Given the description of an element on the screen output the (x, y) to click on. 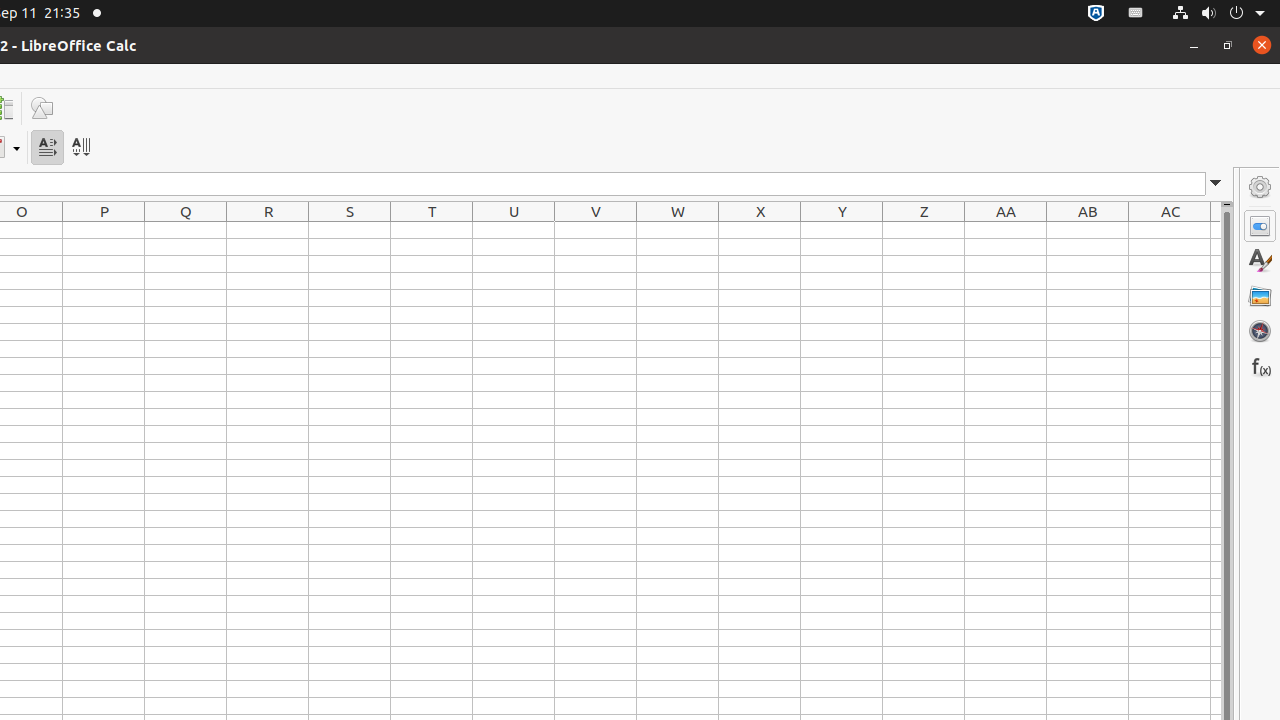
W1 Element type: table-cell (678, 230)
AC1 Element type: table-cell (1170, 230)
Z1 Element type: table-cell (924, 230)
AA1 Element type: table-cell (1006, 230)
AB1 Element type: table-cell (1088, 230)
